Given the description of an element on the screen output the (x, y) to click on. 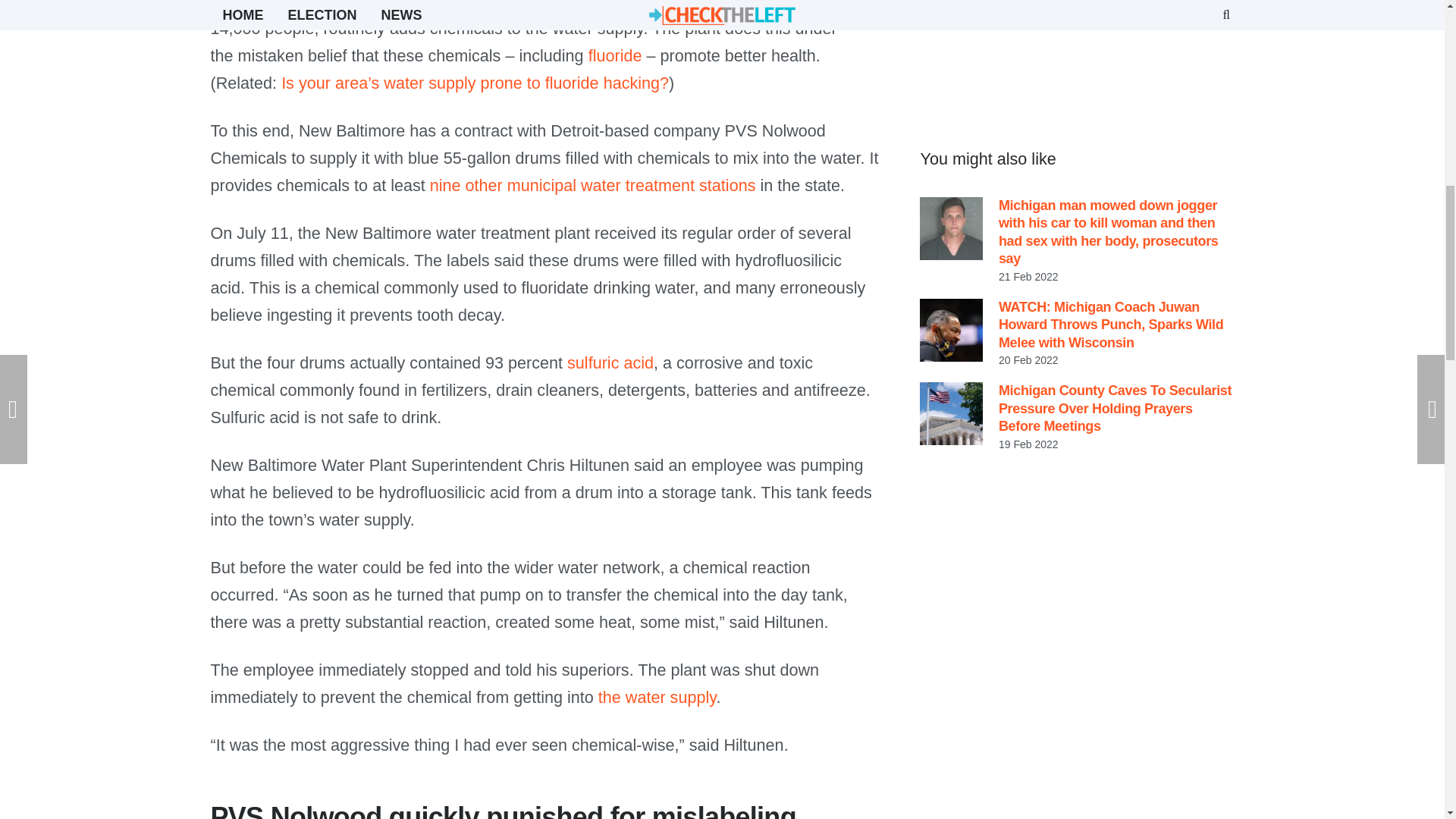
the water supply (657, 696)
sulfuric acid (610, 362)
nine other municipal water treatment stations (592, 185)
fluoride (615, 55)
